Given the description of an element on the screen output the (x, y) to click on. 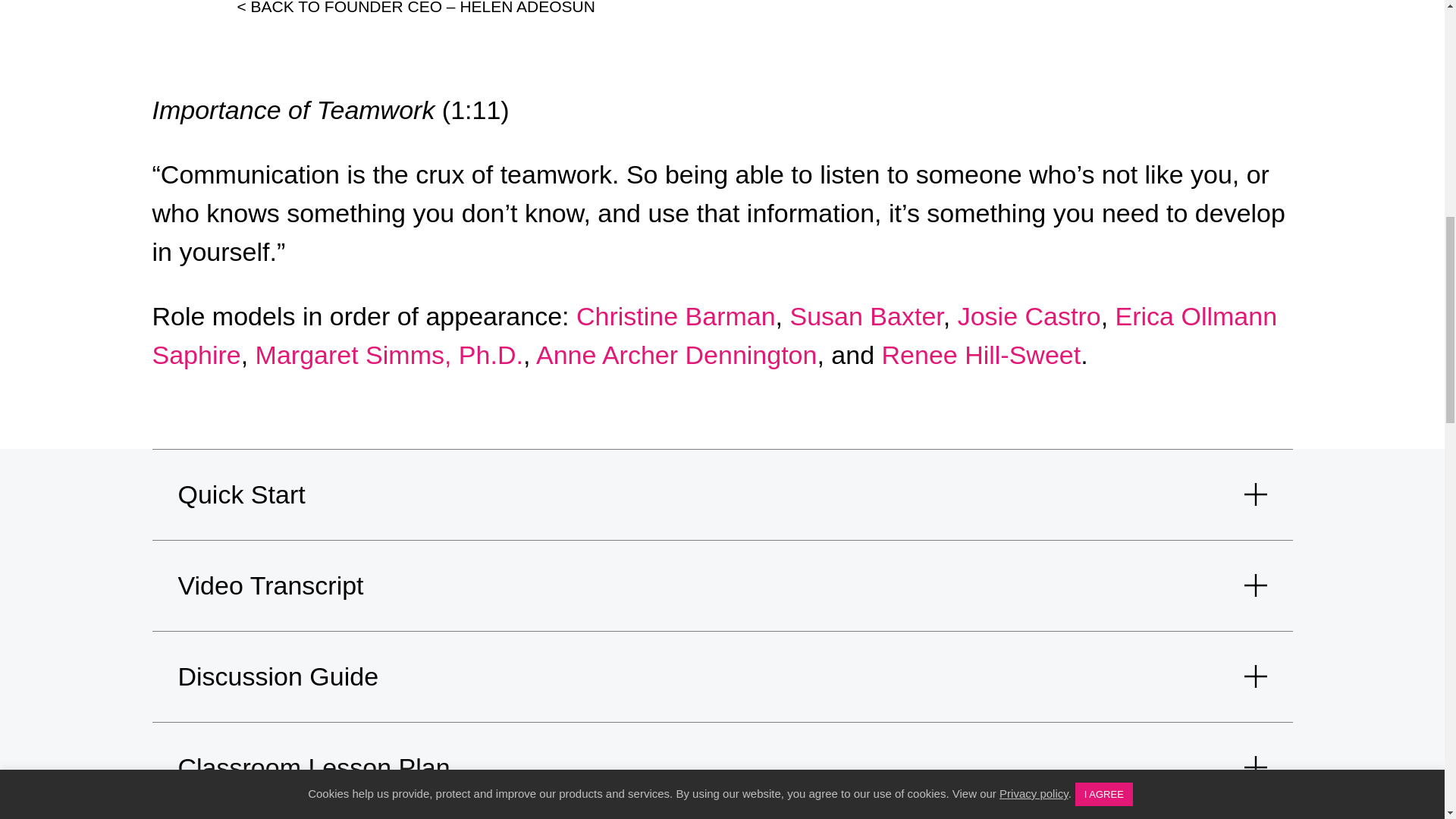
Christine Barman (676, 316)
Susan Baxter (866, 316)
